Given the description of an element on the screen output the (x, y) to click on. 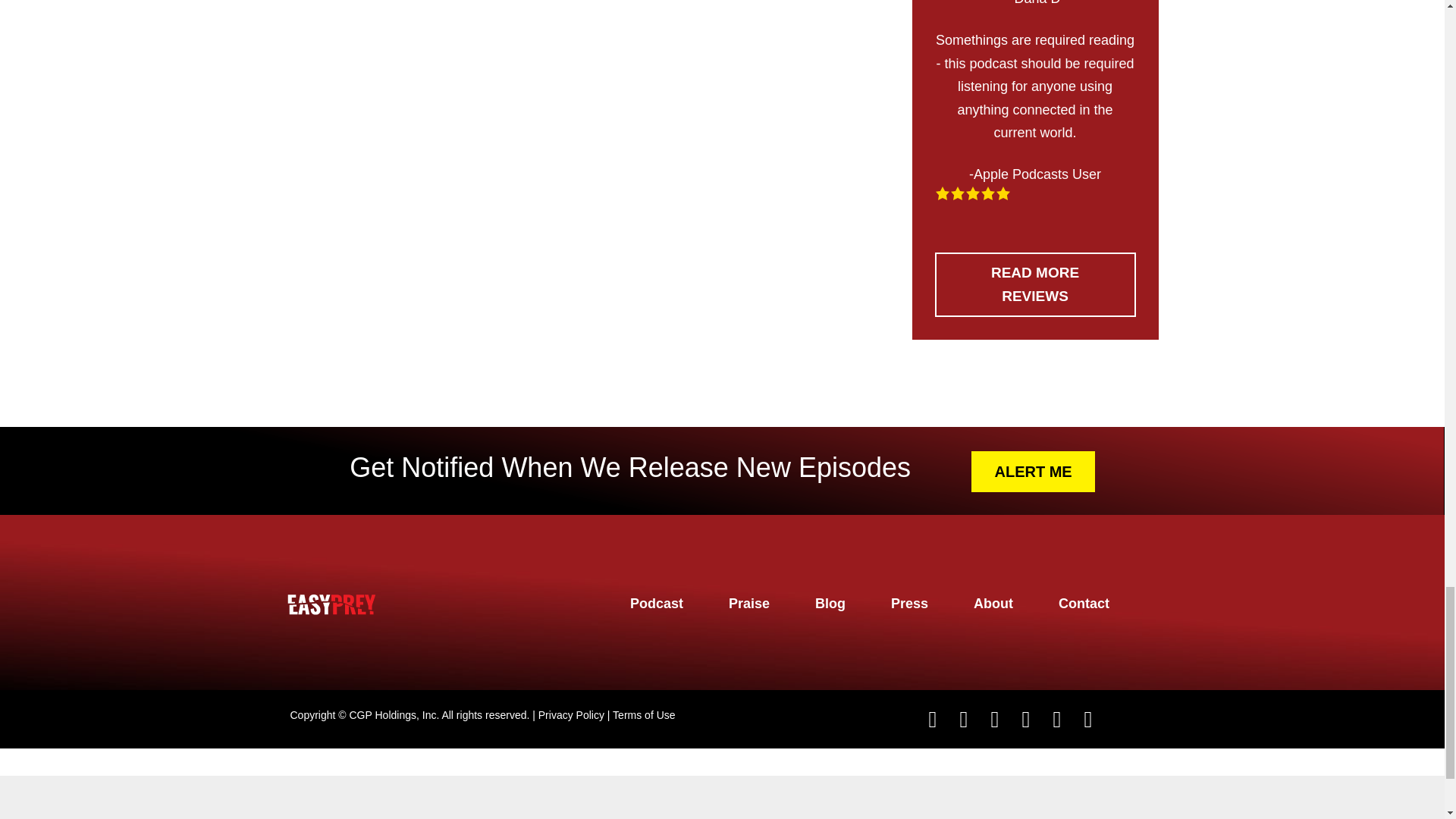
Privacy Policy (571, 715)
About (993, 603)
Blog (830, 603)
Podcast (656, 603)
READ MORE REVIEWS (1034, 284)
Contact (1083, 603)
Press (909, 603)
Praise (748, 603)
Terms of Use (643, 715)
ALERT ME (1032, 471)
